Given the description of an element on the screen output the (x, y) to click on. 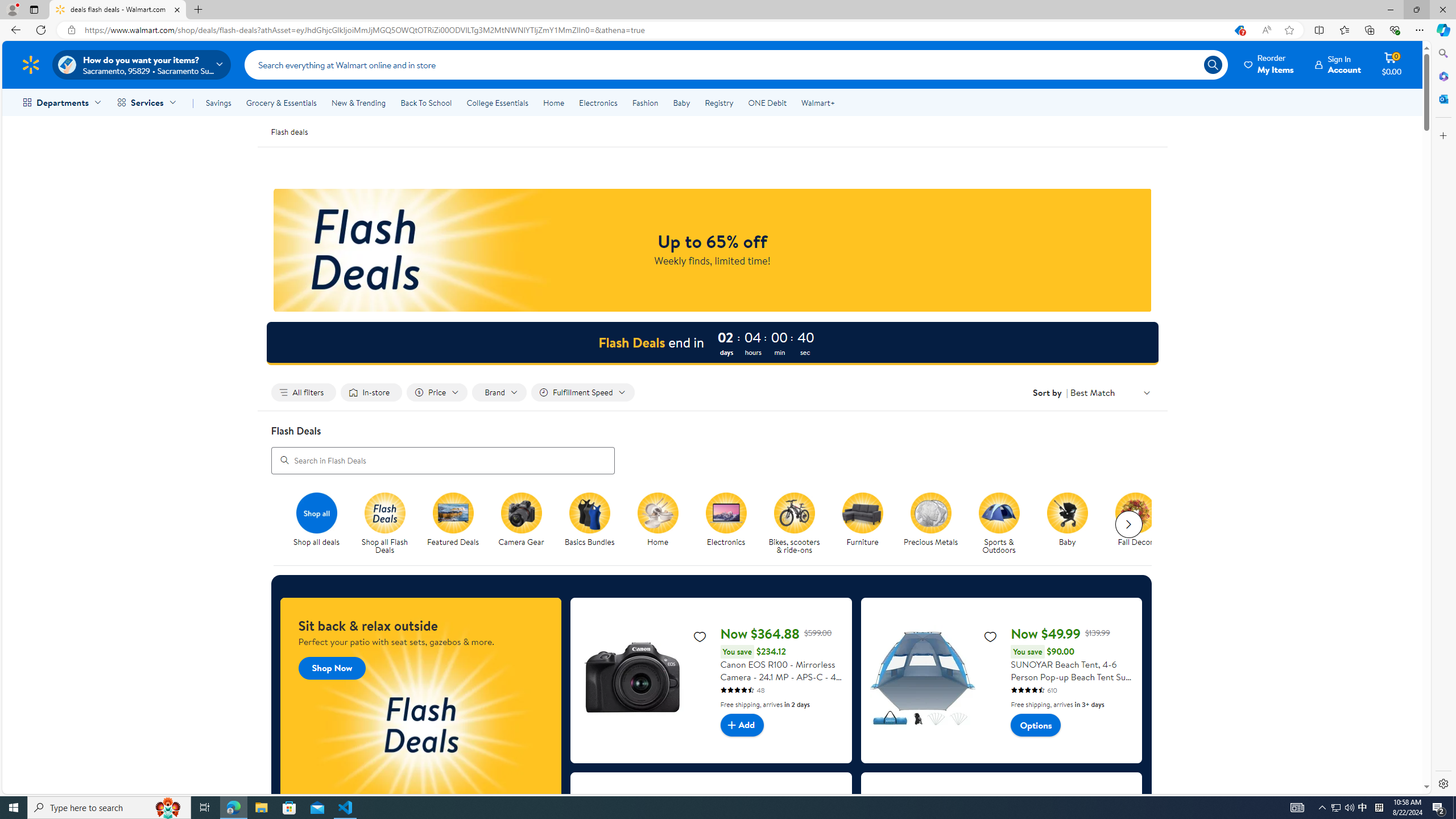
Shop all Flash Deals (389, 524)
Furniture (866, 524)
Grocery & Essentials (280, 102)
Shop all Shop all deals (316, 519)
Furniture Furniture (862, 519)
Savings (217, 102)
Electronics (729, 524)
Search in Flash Deals (442, 460)
Sort by Best Match (1110, 392)
Next slide for chipModuleWithImages list (1128, 524)
Filter by Fulfillment Speed not applied, activate to change (581, 392)
